Given the description of an element on the screen output the (x, y) to click on. 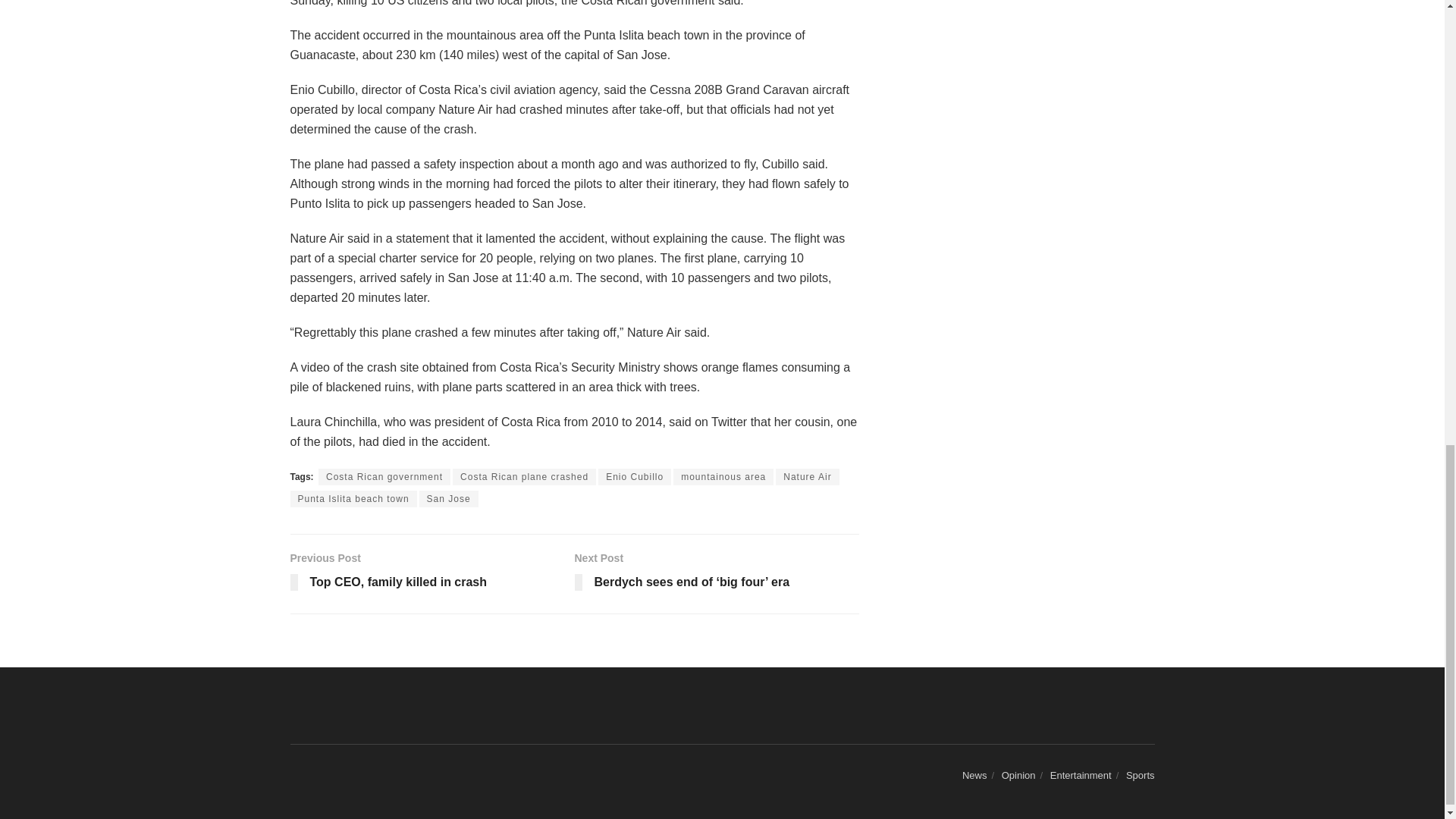
Costa Rican government (383, 476)
Nature Air (807, 476)
mountainous area (722, 476)
San Jose (449, 498)
Costa Rican plane crashed (523, 476)
Enio Cubillo (431, 573)
Punta Islita beach town (634, 476)
